Given the description of an element on the screen output the (x, y) to click on. 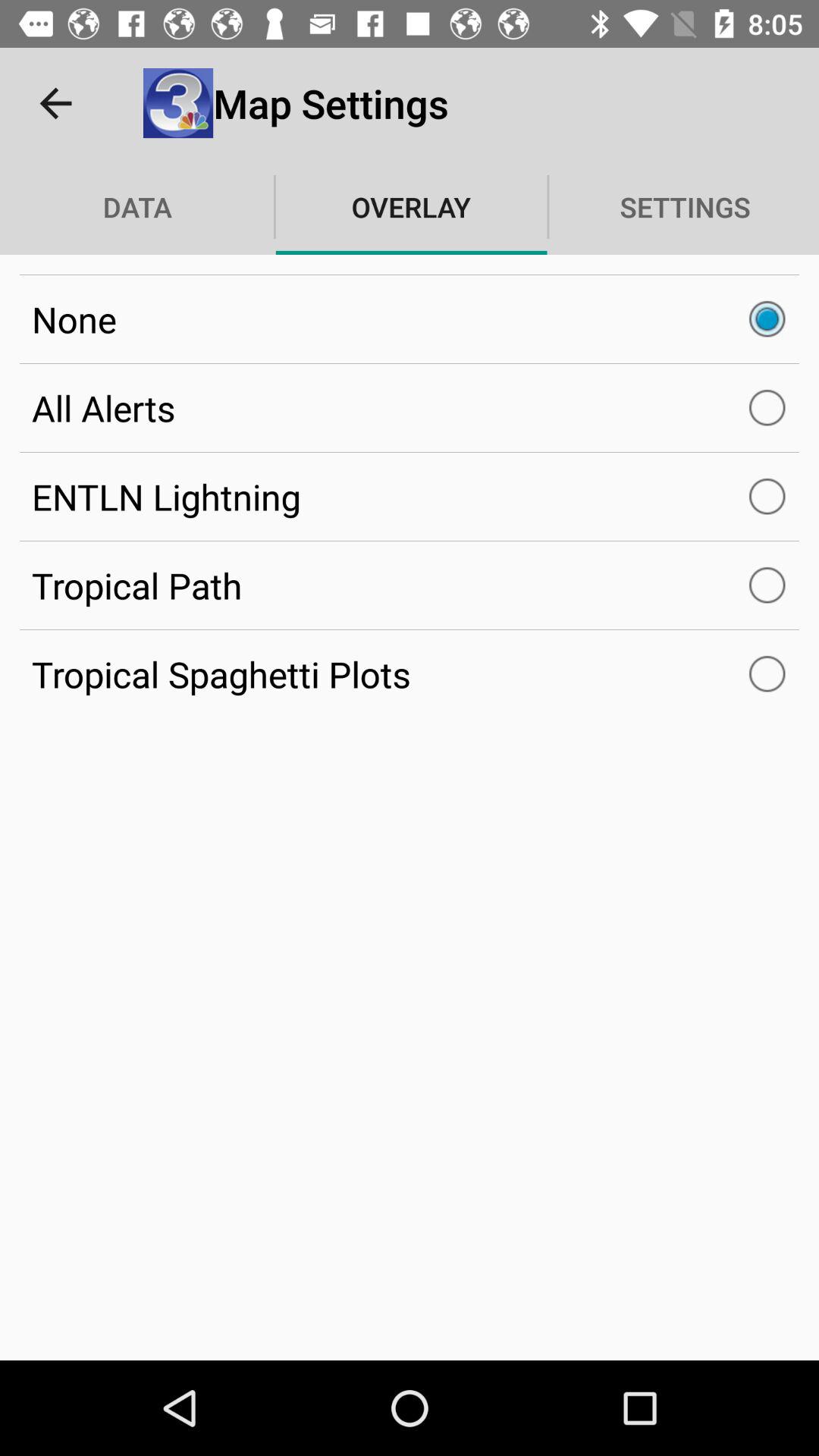
launch entln lightning icon (409, 496)
